Given the description of an element on the screen output the (x, y) to click on. 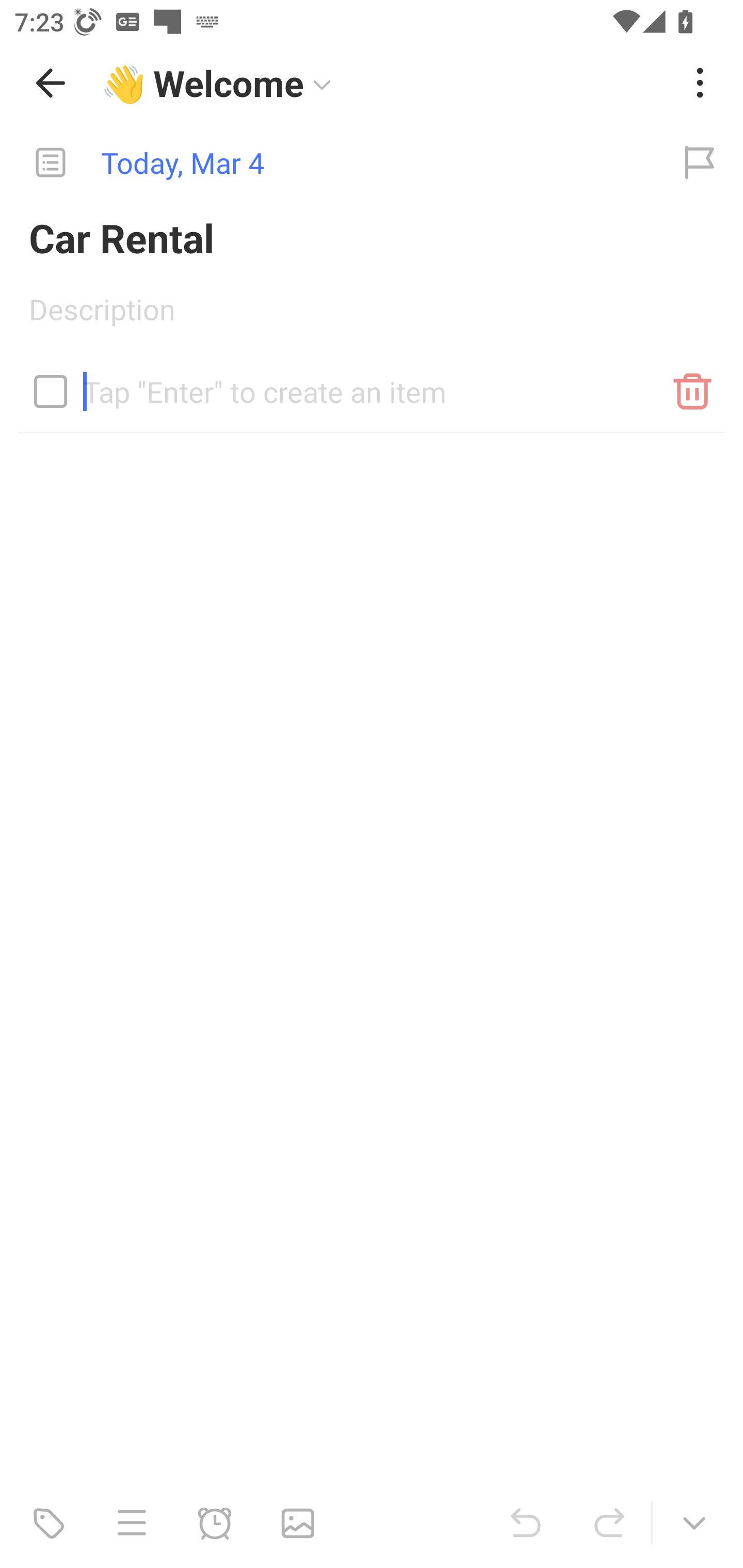
👋 Welcome (384, 82)
Today, Mar 4  (328, 163)
Car Rental (371, 237)
Description (371, 315)
  (50, 390)
Tap "Enter" to create an item (371, 383)
